Given the description of an element on the screen output the (x, y) to click on. 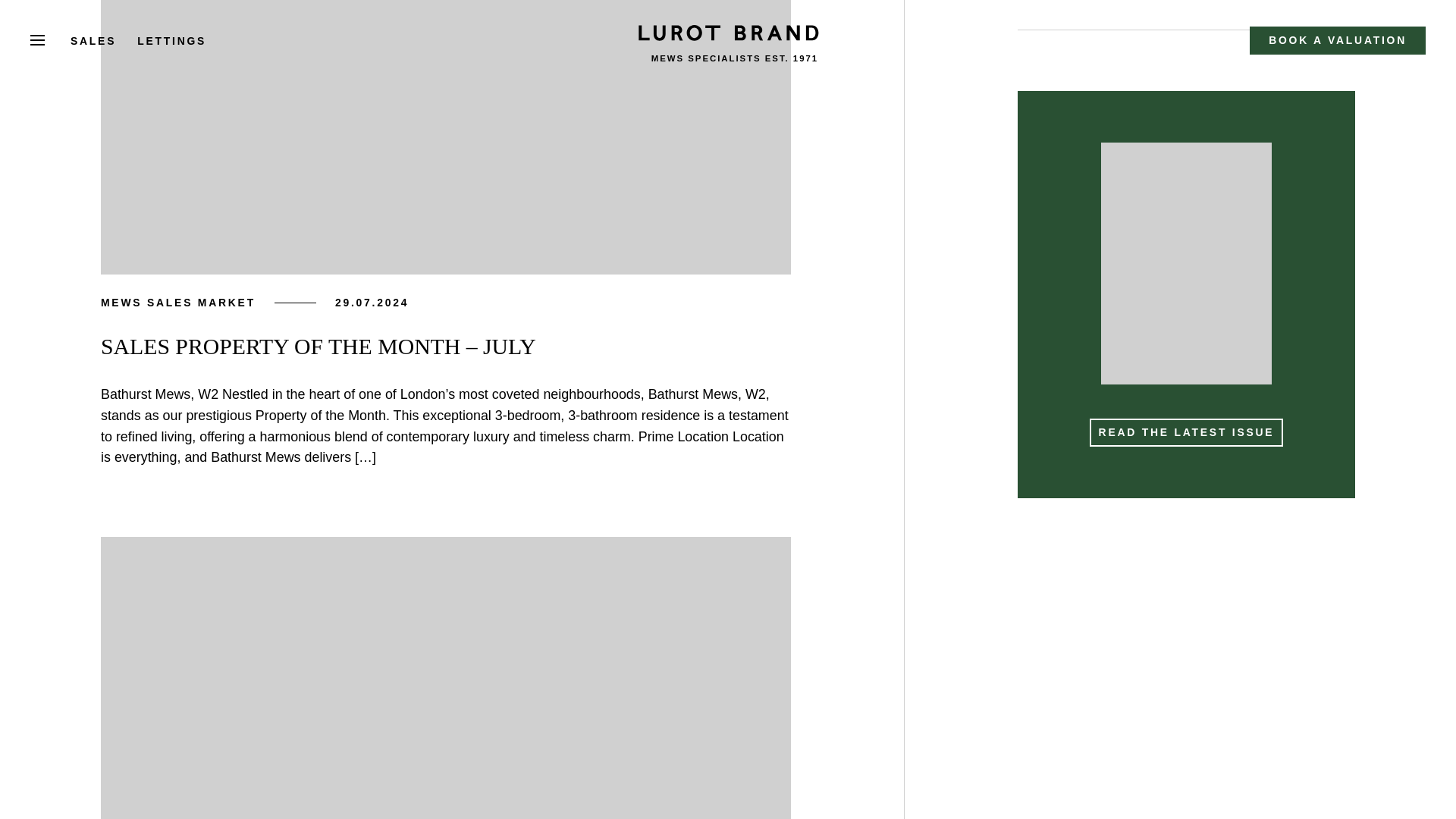
Mews Sales Market (178, 302)
